Given the description of an element on the screen output the (x, y) to click on. 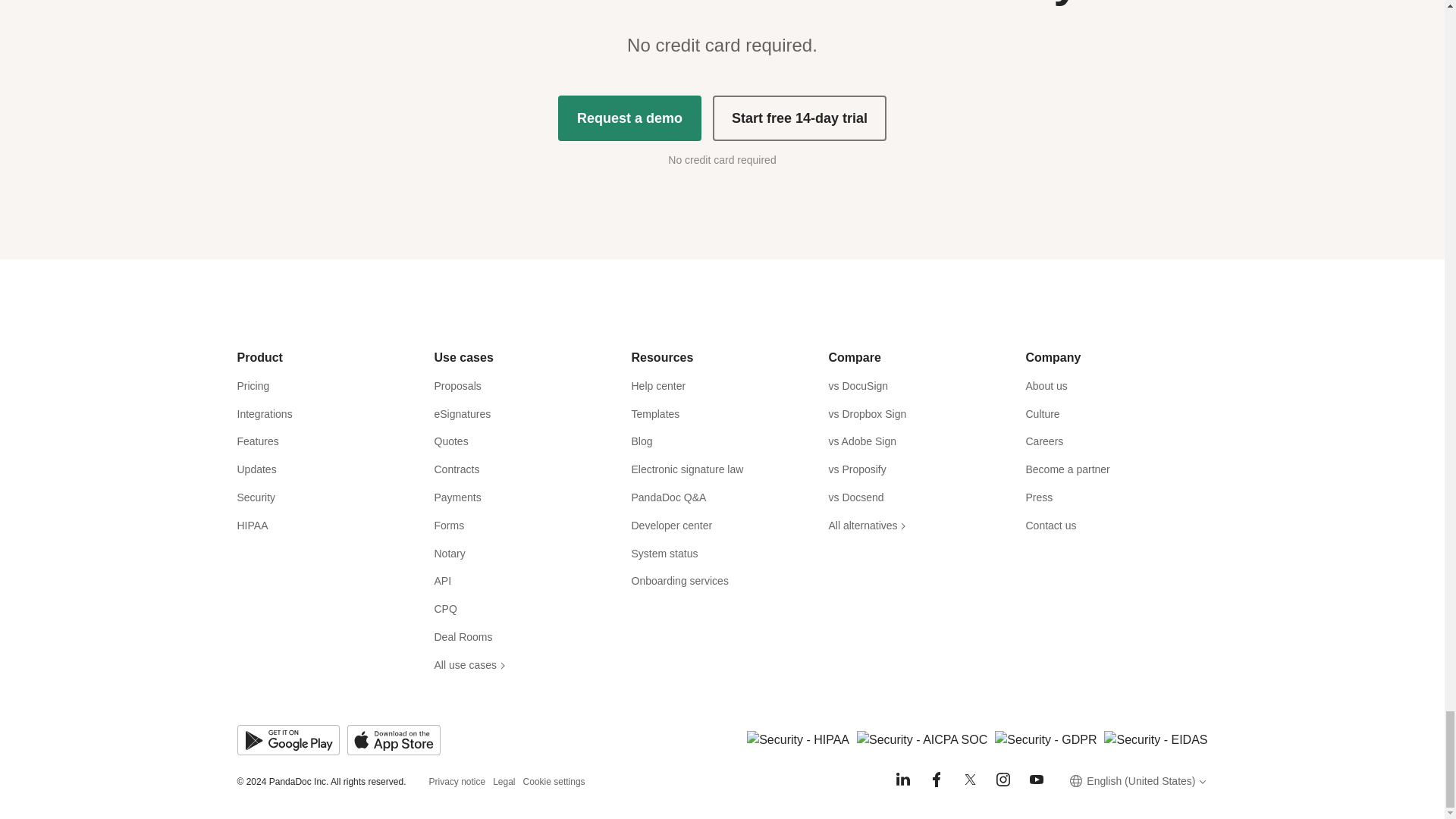
Twitter (969, 779)
LinkedIn (902, 779)
Instagram (1002, 779)
Youtube (1036, 779)
Facebook (935, 779)
